Given the description of an element on the screen output the (x, y) to click on. 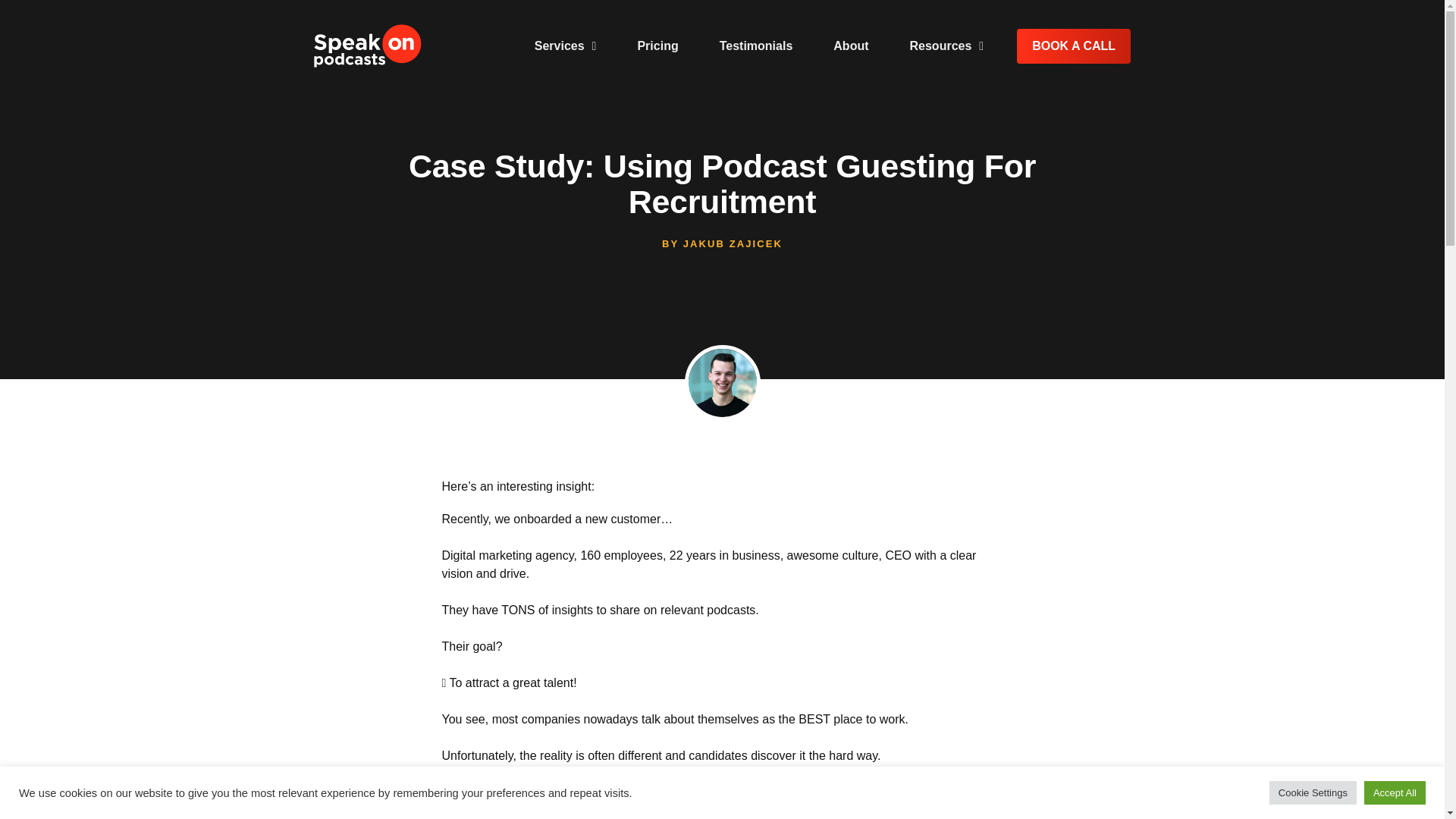
Pricing (657, 45)
Testimonials (756, 45)
Resources (947, 45)
About (849, 45)
Services (565, 45)
